Given the description of an element on the screen output the (x, y) to click on. 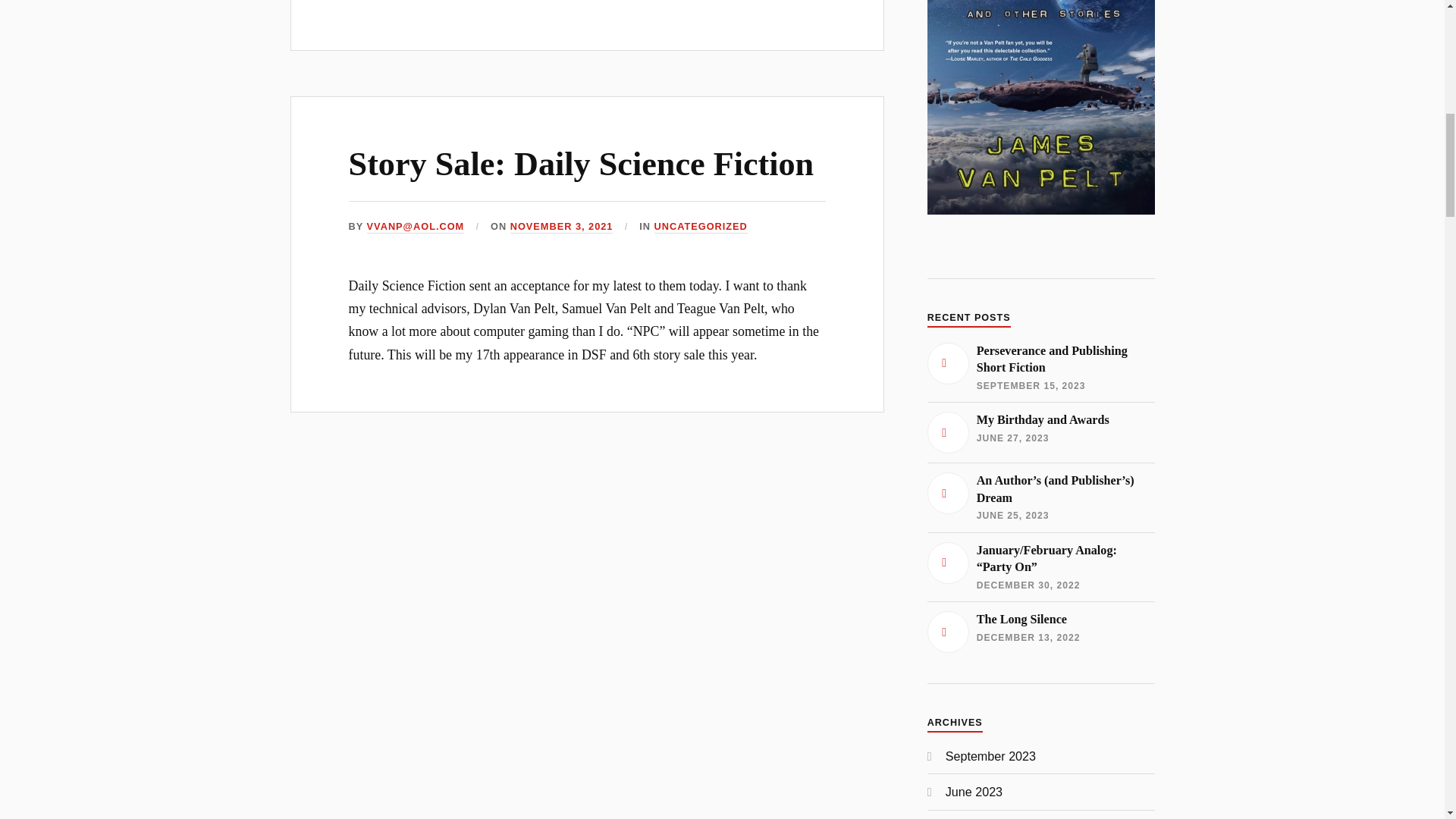
June 2023 (973, 791)
September 2023 (989, 755)
UNCATEGORIZED (700, 226)
Story Sale: Daily Science Fiction (581, 163)
NOVEMBER 3, 2021 (1040, 368)
